Given the description of an element on the screen output the (x, y) to click on. 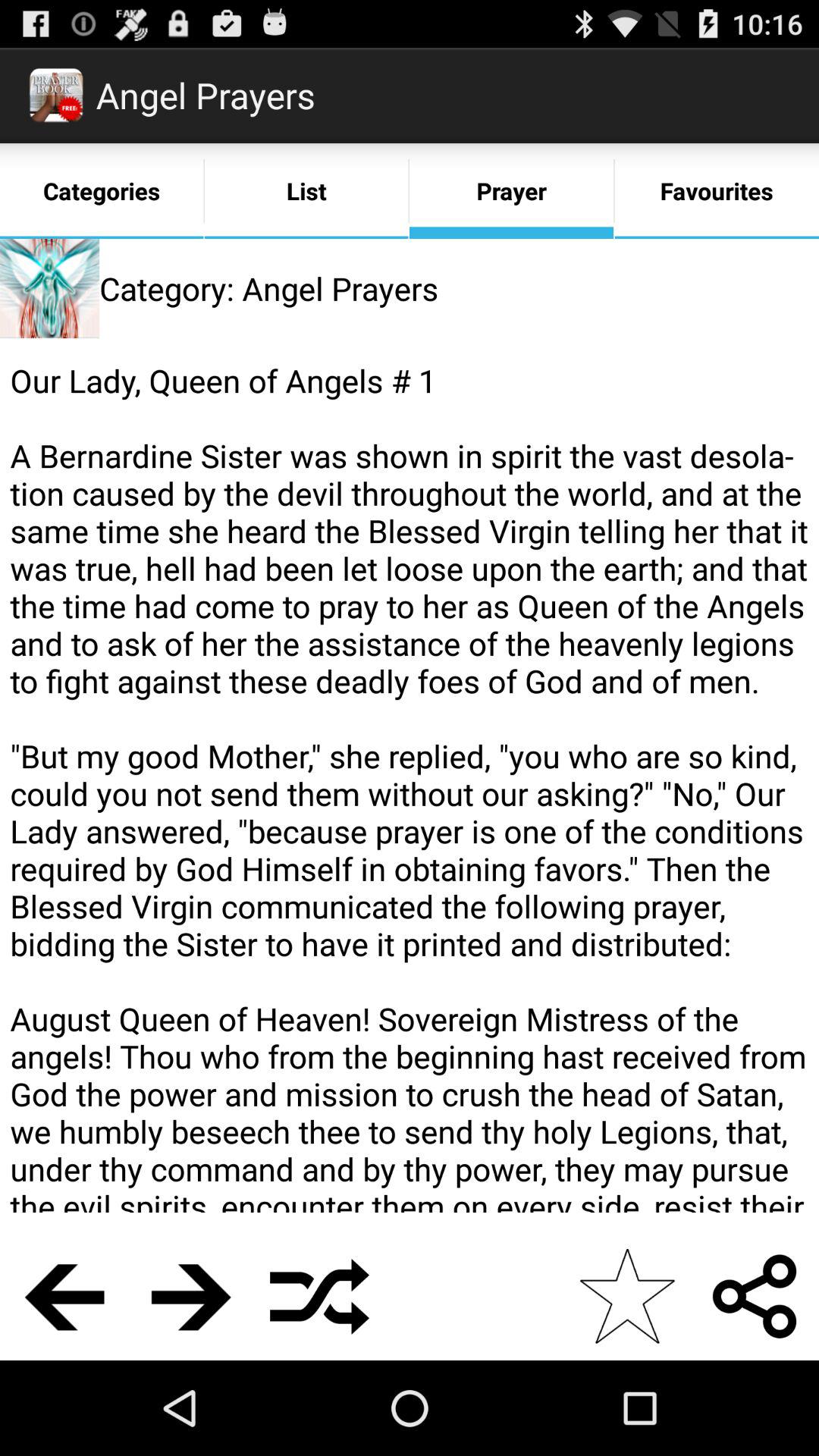
favorite (626, 1296)
